Given the description of an element on the screen output the (x, y) to click on. 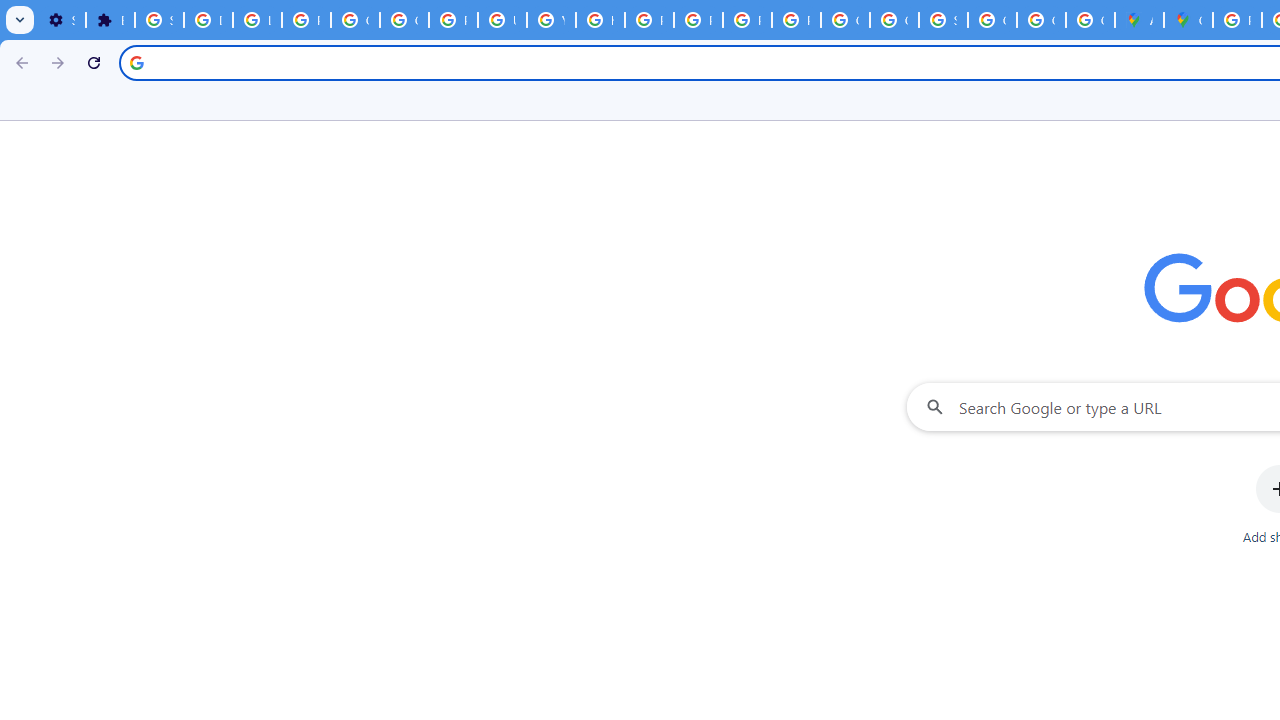
Create your Google Account (1090, 20)
Google Account Help (355, 20)
YouTube (551, 20)
Policy Accountability and Transparency - Transparency Center (1237, 20)
Delete photos & videos - Computer - Google Photos Help (208, 20)
